Given the description of an element on the screen output the (x, y) to click on. 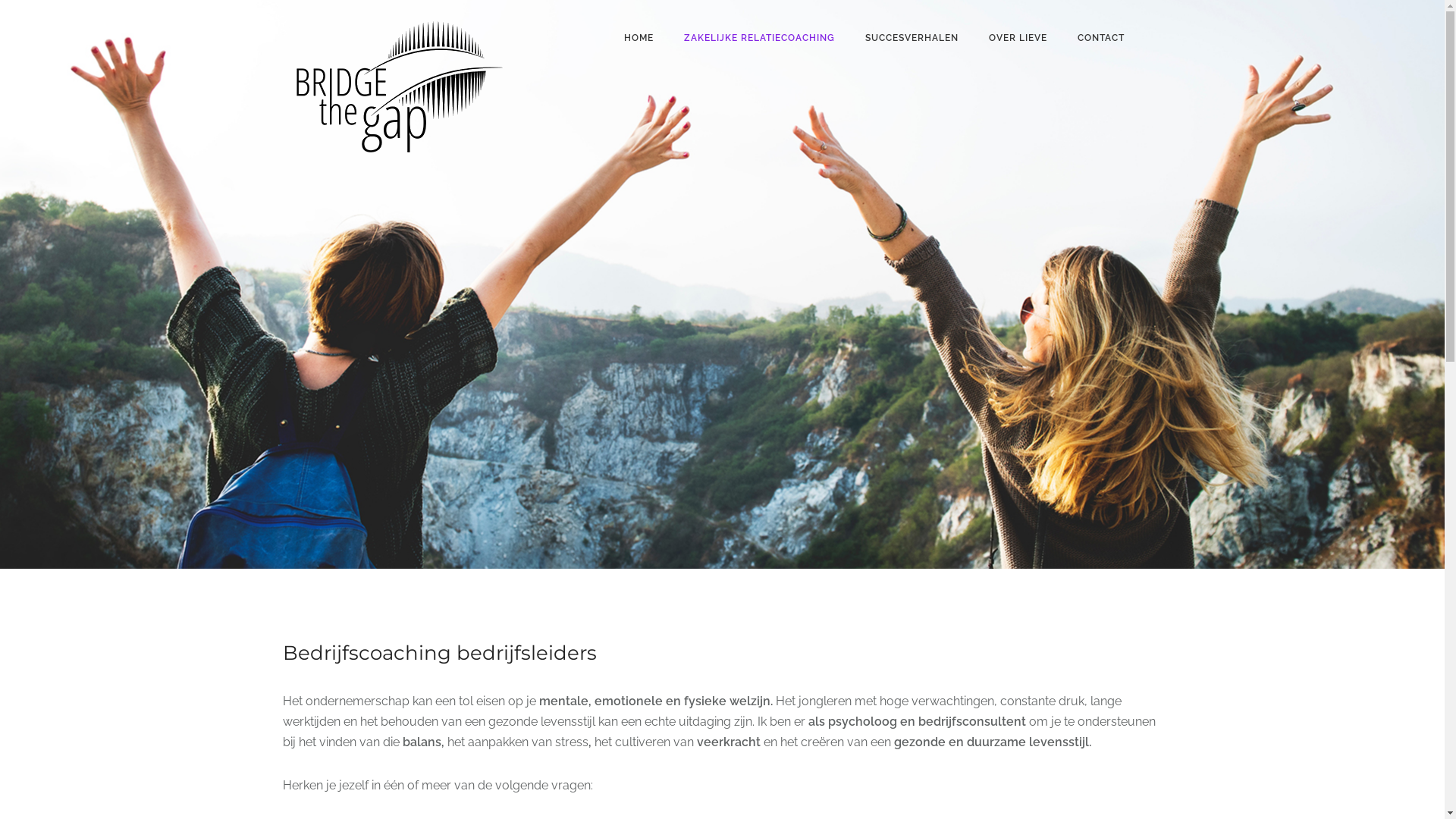
CONTACT Element type: text (1100, 37)
SUCCESVERHALEN Element type: text (910, 37)
HOME Element type: text (638, 37)
ZAKELIJKE RELATIECOACHING Element type: text (759, 37)
OVER LIEVE Element type: text (1017, 37)
